Given the description of an element on the screen output the (x, y) to click on. 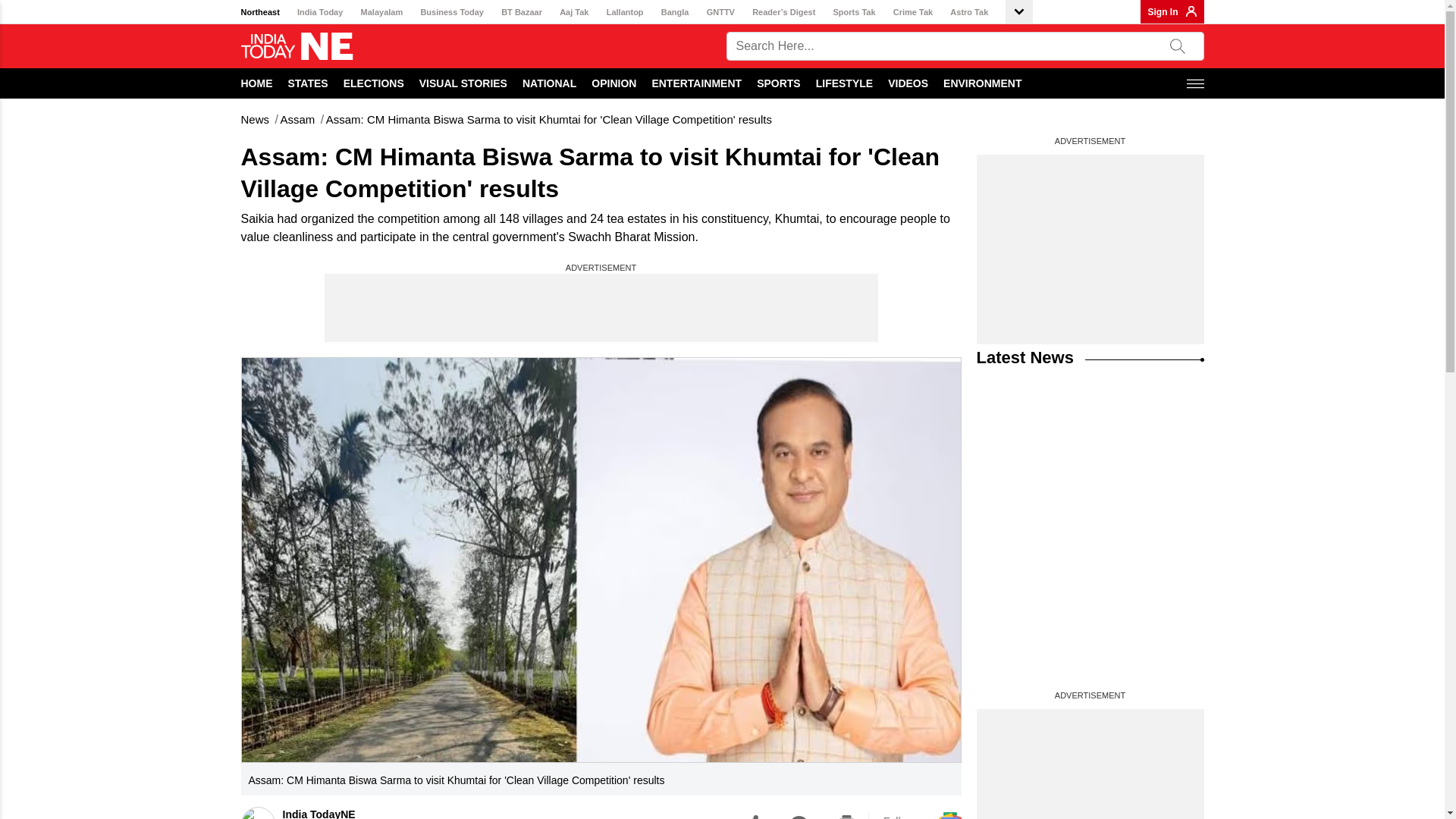
ELECTIONS (373, 82)
Sports Tak (854, 12)
Malayalam (382, 12)
Business Today (451, 12)
Aaj Tak (573, 12)
Northeast (260, 12)
GNTTV (720, 12)
Aaj Tak (573, 12)
STATES (308, 82)
Lallantop (625, 12)
